Given the description of an element on the screen output the (x, y) to click on. 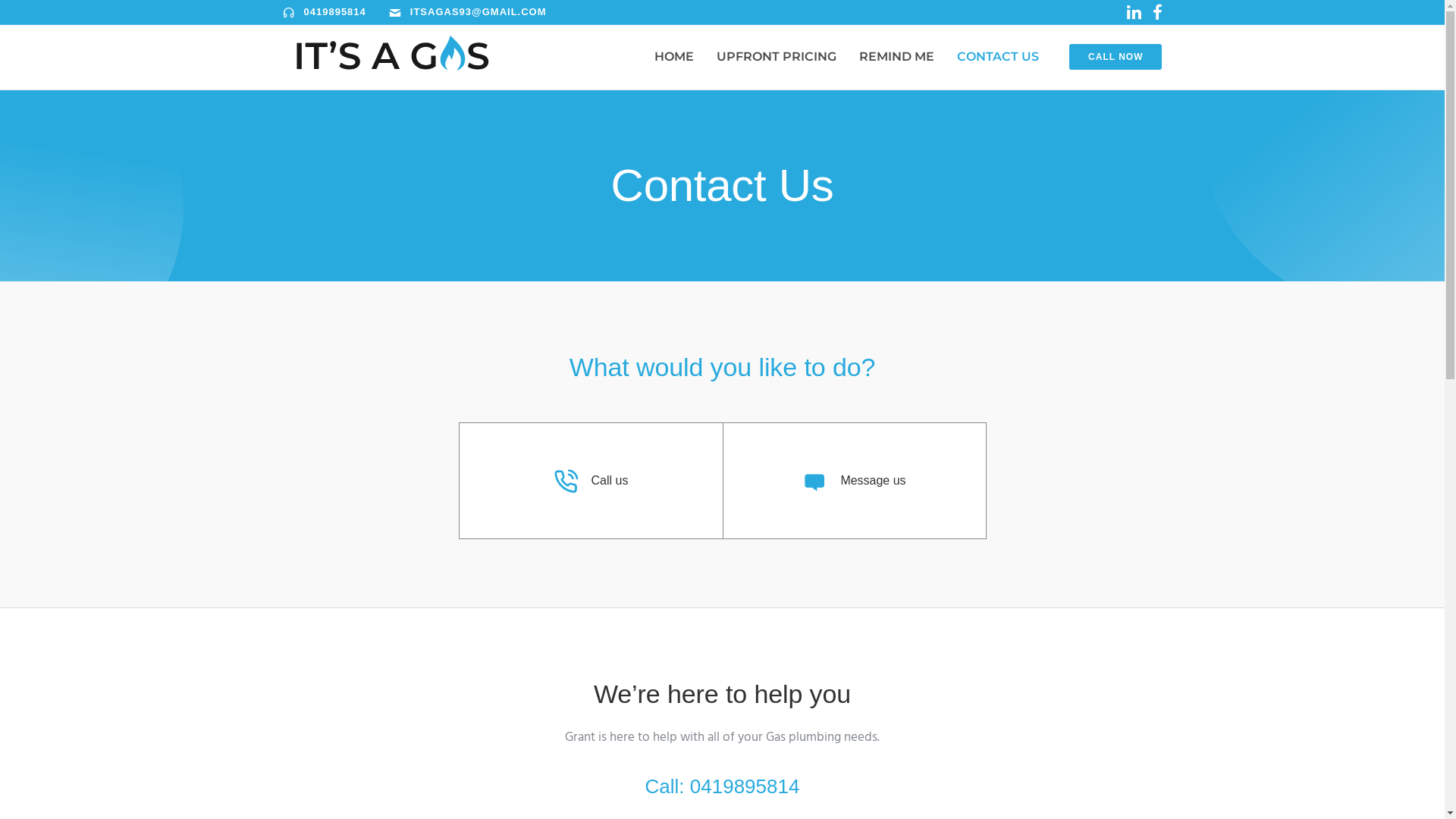
CALL NOW Element type: text (1115, 56)
Message us Element type: text (872, 479)
Call us Element type: text (609, 479)
ITSAGAS93@GMAIL.COM Element type: text (478, 11)
REMIND ME Element type: text (896, 56)
CONTACT US Element type: text (997, 56)
Call: 0419895814 Element type: text (722, 786)
HOME Element type: text (673, 56)
UPFRONT PRICING Element type: text (776, 56)
0419895814 Element type: text (334, 11)
